Given the description of an element on the screen output the (x, y) to click on. 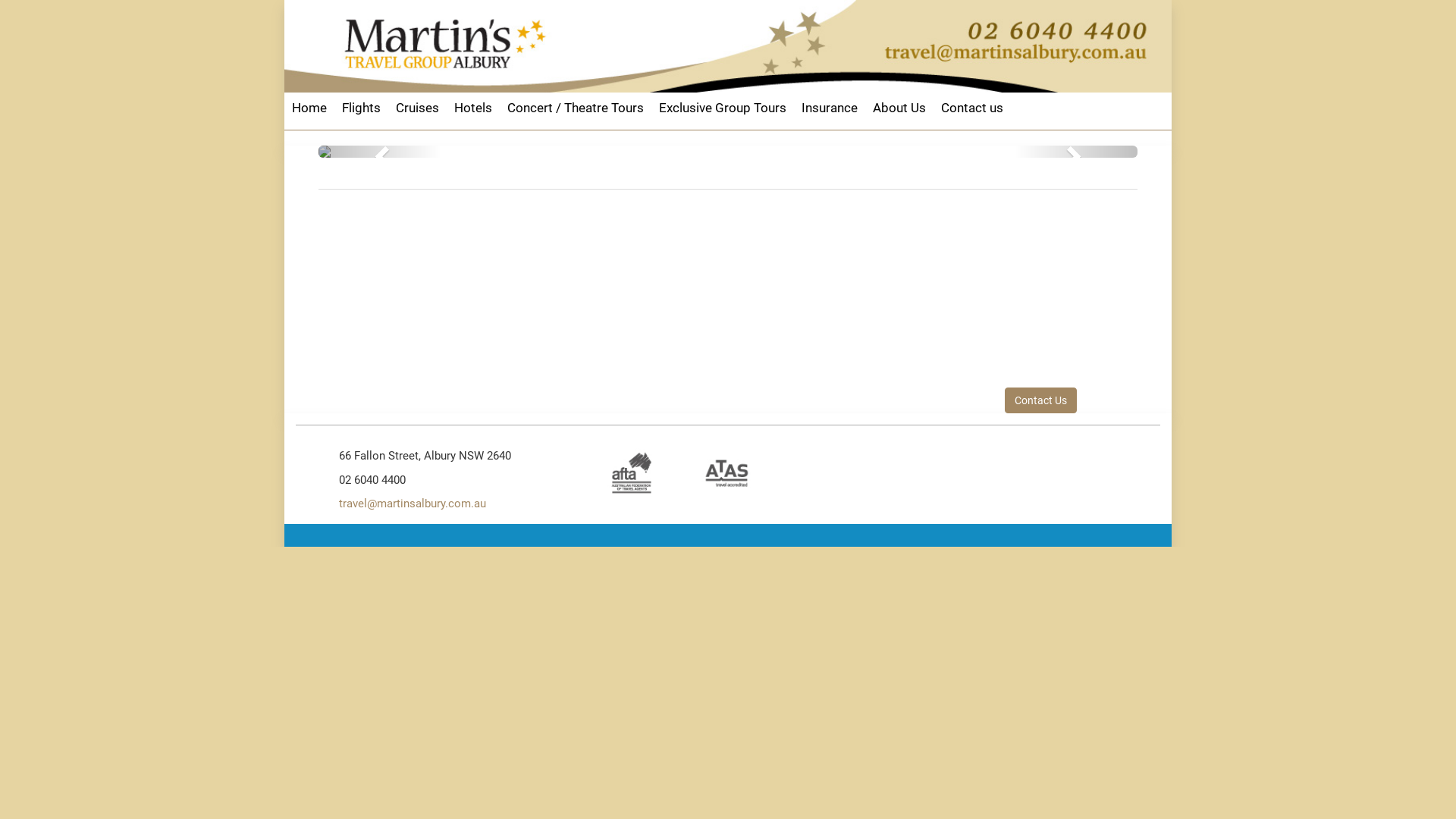
Home Element type: text (309, 107)
Cruises Element type: text (417, 107)
Contact Us Element type: text (1040, 400)
About Us Element type: text (899, 107)
Concert / Theatre Tours Element type: text (575, 107)
Flights Element type: text (361, 107)
Next Element type: text (1075, 151)
Previous Element type: text (379, 151)
Exclusive Group Tours Element type: text (722, 107)
travel@martinsalbury.com.au Element type: text (412, 503)
Contact us Element type: text (971, 107)
Insurance Element type: text (829, 107)
Hotels Element type: text (472, 107)
